Given the description of an element on the screen output the (x, y) to click on. 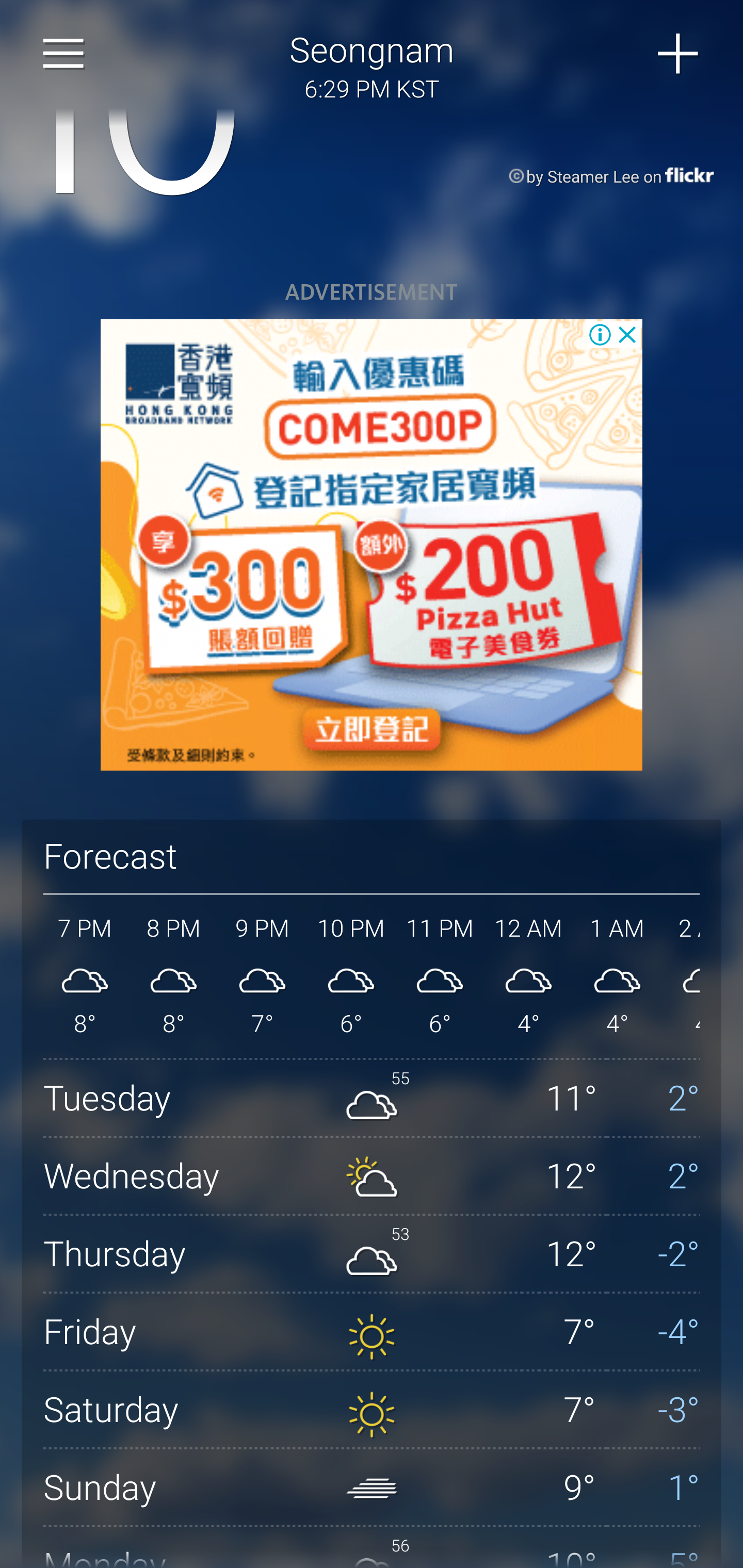
Sidebar (64, 54)
Add City (678, 53)
Advertisement (371, 545)
